Given the description of an element on the screen output the (x, y) to click on. 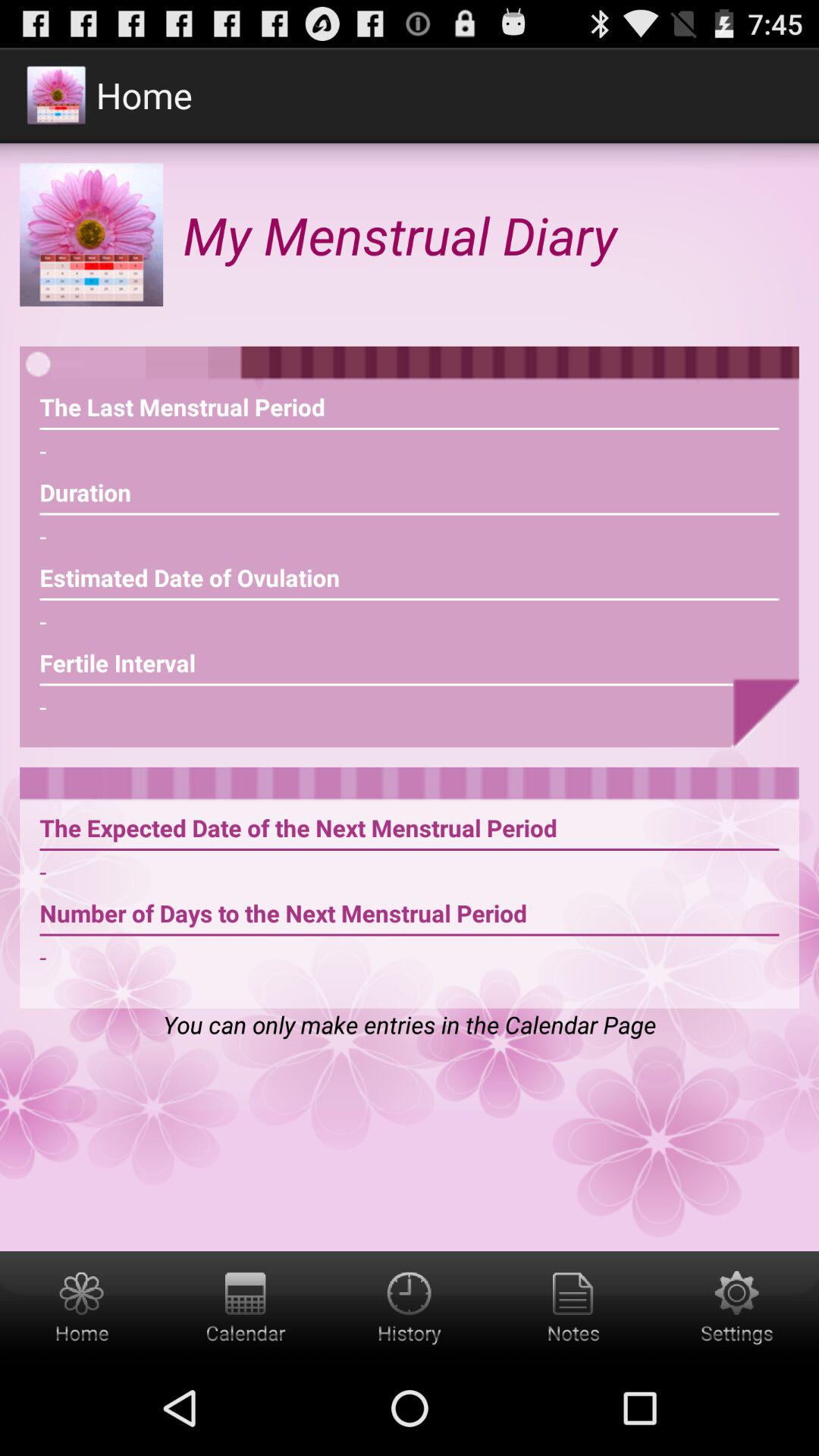
notes icon (573, 1305)
